Given the description of an element on the screen output the (x, y) to click on. 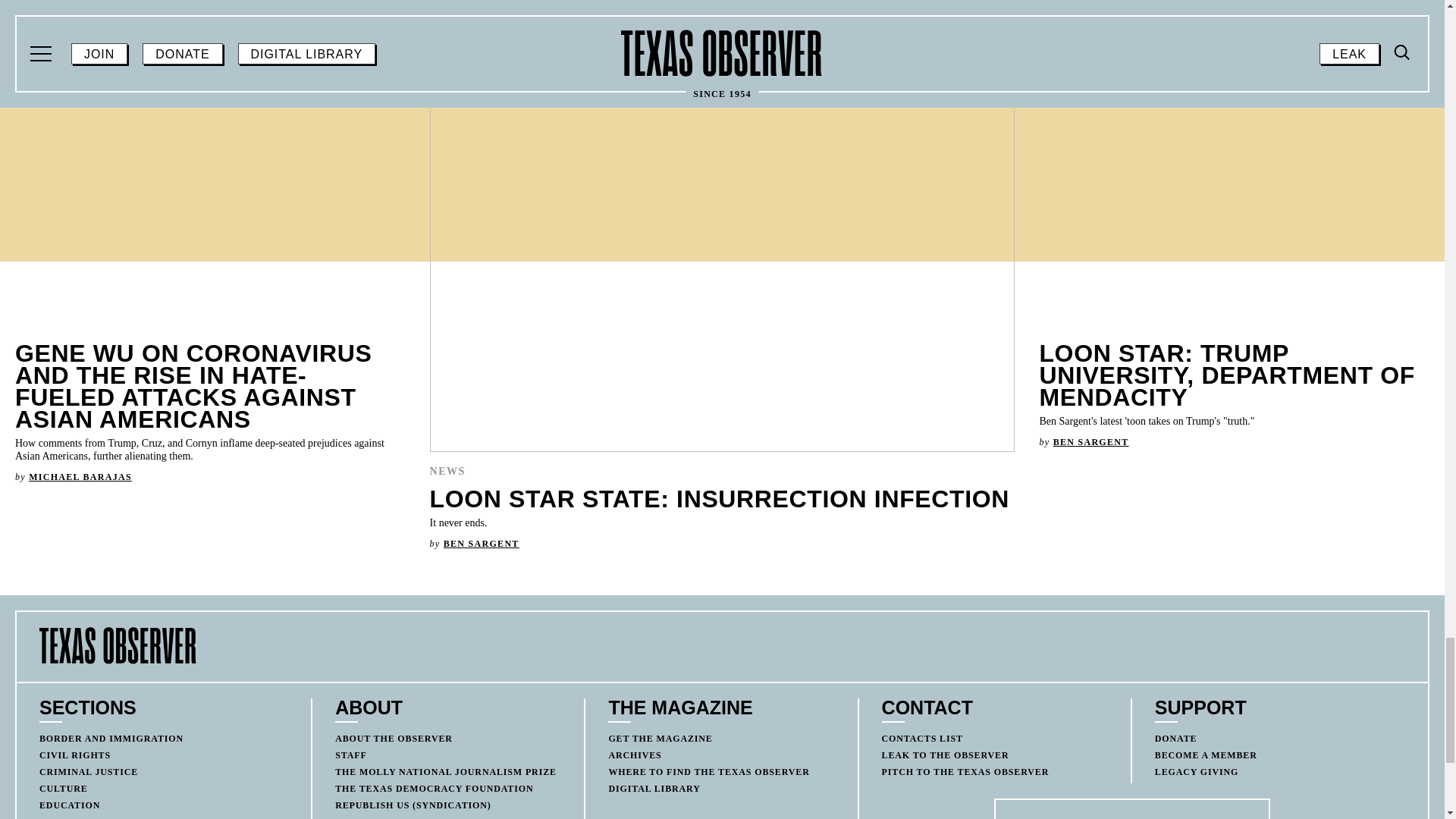
Post by Ben Sargent (1090, 441)
Post by Ben Sargent (481, 543)
Post by Michael Barajas (80, 476)
